Given the description of an element on the screen output the (x, y) to click on. 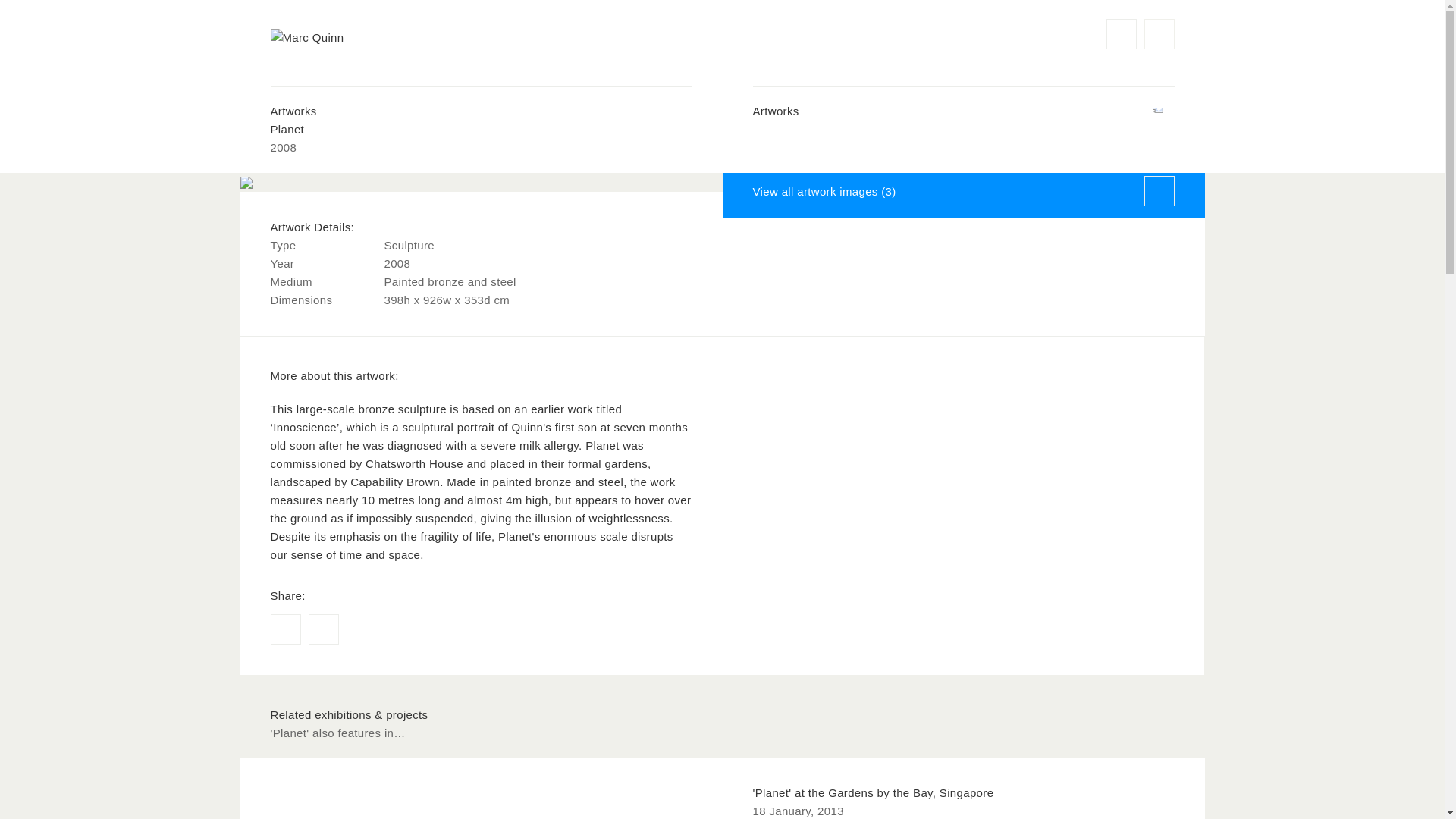
Artworks (962, 111)
